Given the description of an element on the screen output the (x, y) to click on. 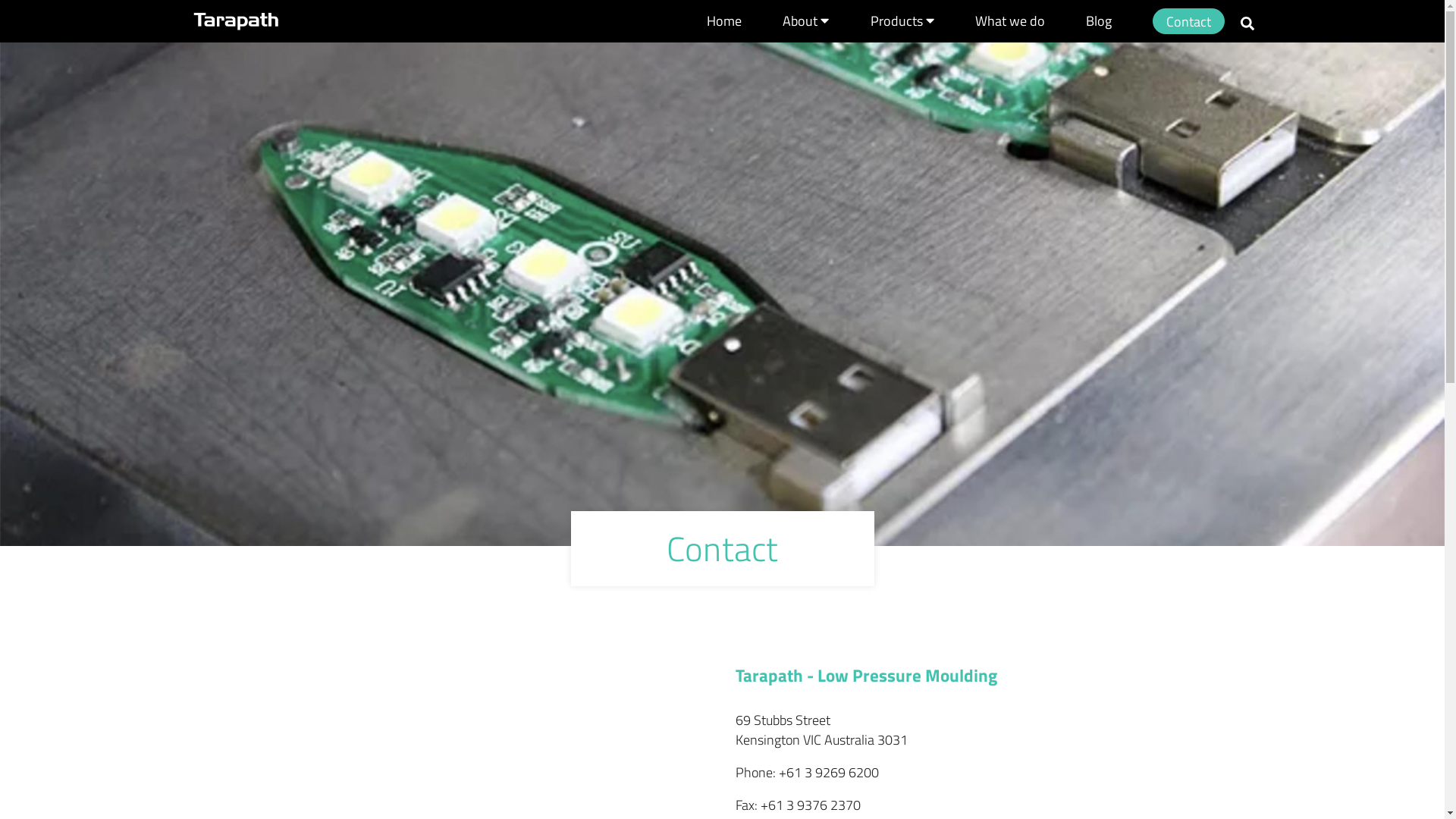
Tarapath | Low Pressure Moulding Element type: hover (234, 21)
Products Element type: text (902, 20)
Home Element type: text (723, 20)
What we do Element type: text (1009, 20)
tarapath low pressure moulding electronics Element type: hover (722, 273)
Blog Element type: text (1098, 20)
About Element type: text (805, 20)
Contact Element type: text (1188, 21)
